Given the description of an element on the screen output the (x, y) to click on. 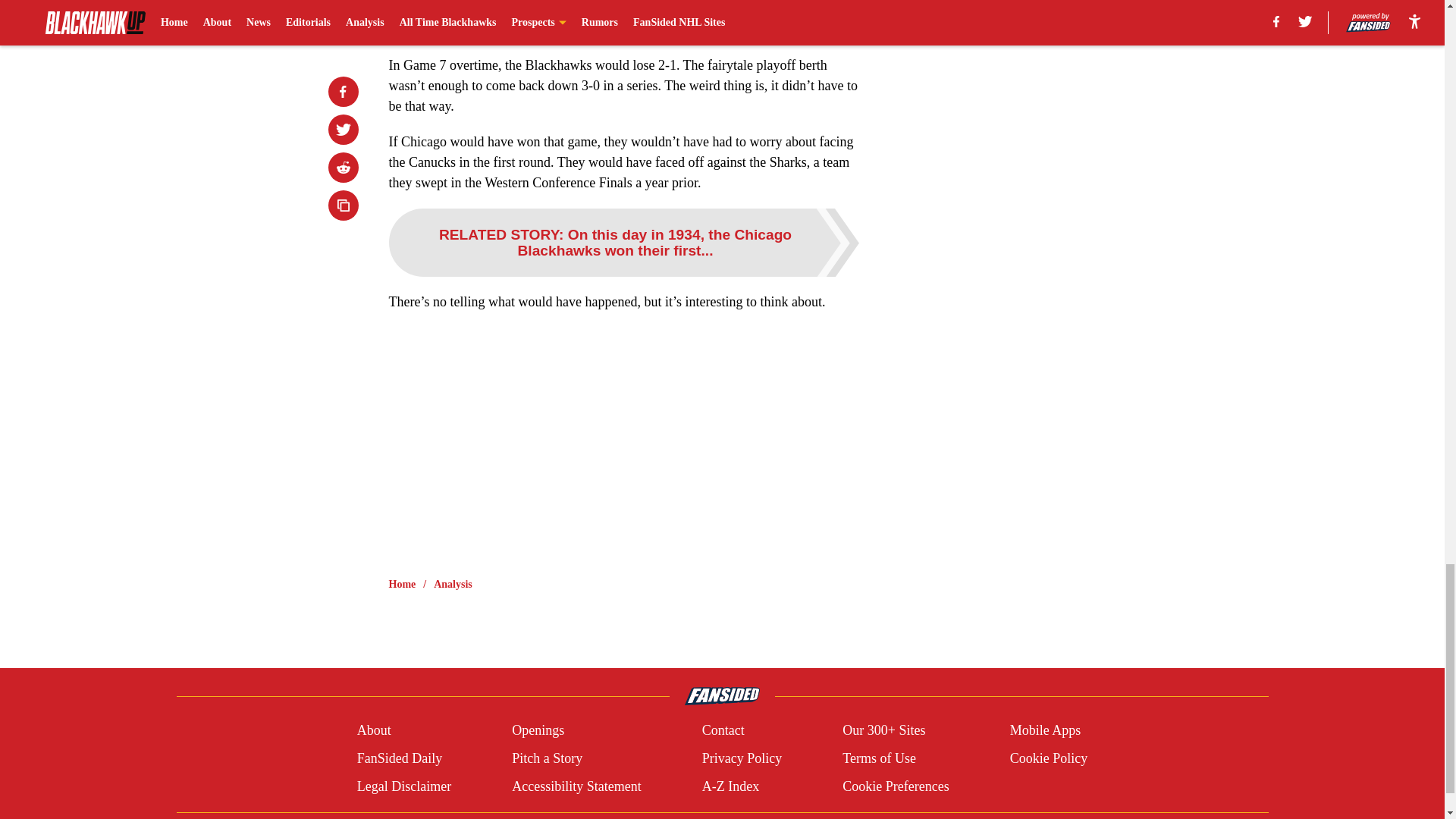
Home (401, 584)
Pitch a Story (547, 758)
Openings (538, 730)
Privacy Policy (742, 758)
About (373, 730)
FanSided Daily (399, 758)
Mobile Apps (1045, 730)
Cookie Policy (1048, 758)
Legal Disclaimer (403, 786)
Analysis (452, 584)
Contact (722, 730)
Terms of Use (879, 758)
